Given the description of an element on the screen output the (x, y) to click on. 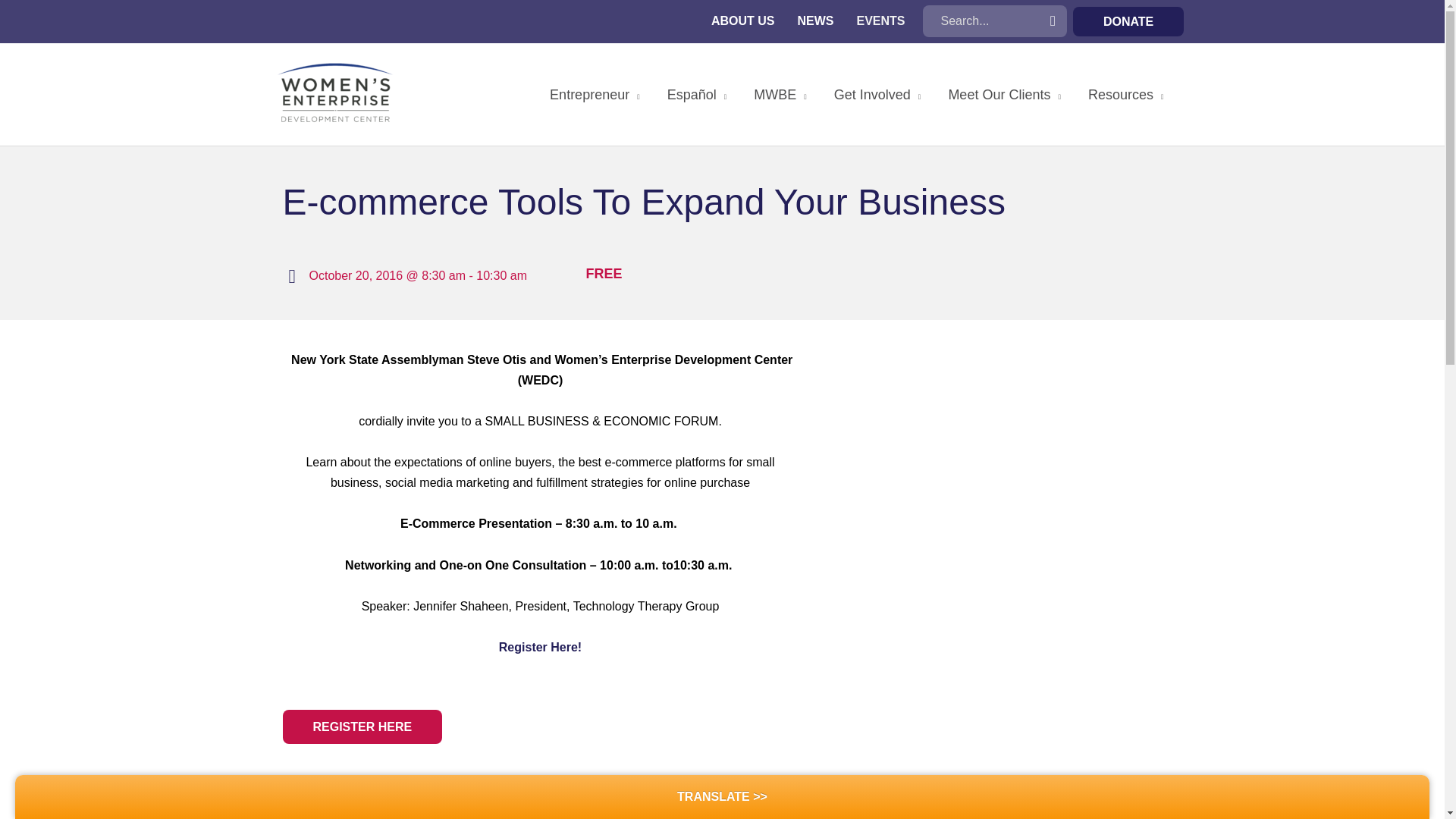
Entrepreneur (594, 94)
MWBE (780, 94)
Get Involved (877, 94)
Meet Our Clients (1004, 94)
ABOUT US (743, 21)
DONATE (1128, 21)
NEWS (815, 21)
EVENTS (880, 21)
